Given the description of an element on the screen output the (x, y) to click on. 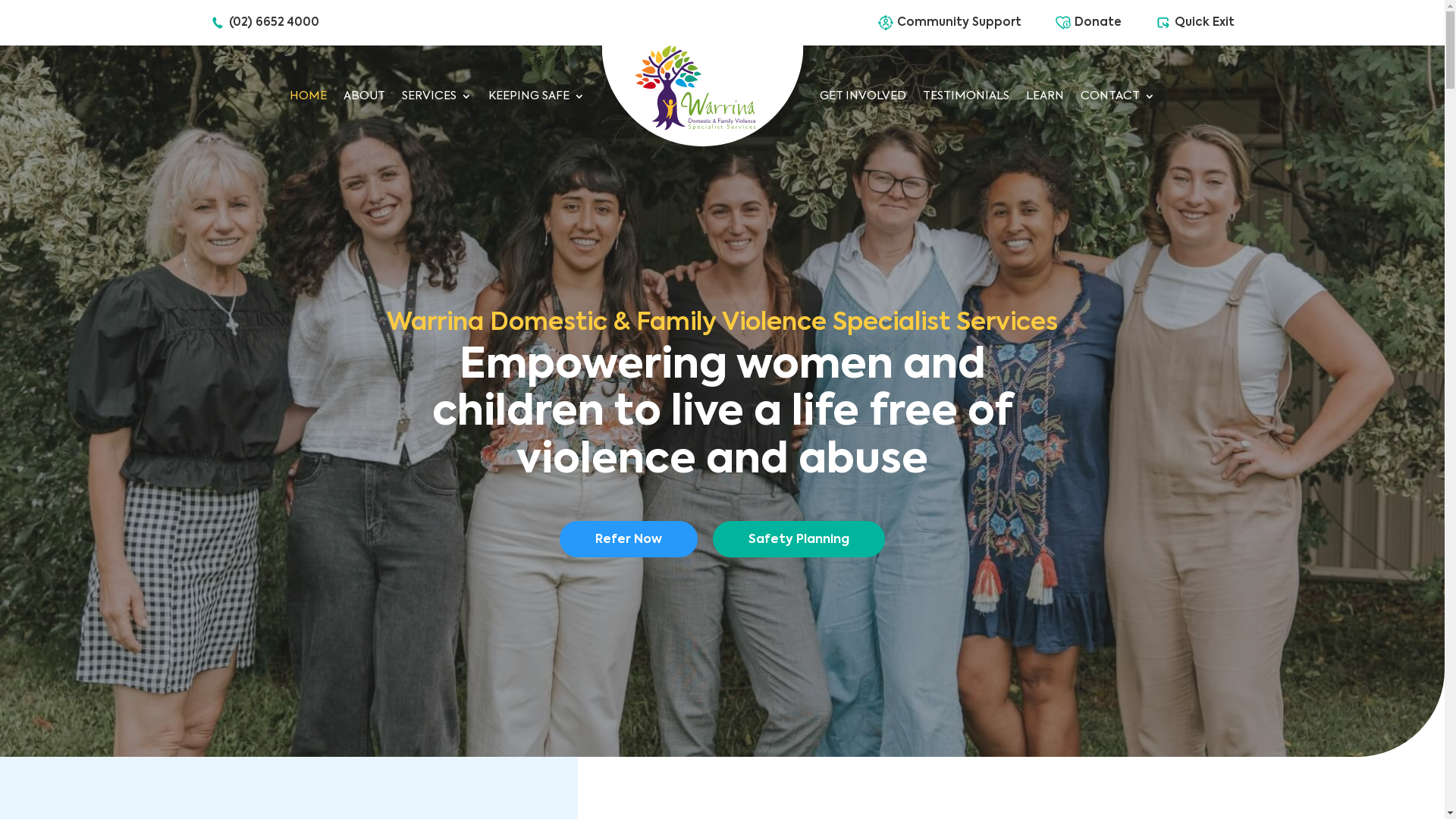
HOME Element type: text (307, 95)
Donate Element type: text (1097, 22)
LEARN Element type: text (1044, 95)
SERVICES Element type: text (436, 95)
Community Support Element type: text (959, 22)
Refer Now Element type: text (628, 538)
GET INVOLVED Element type: text (862, 95)
TESTIMONIALS Element type: text (965, 95)
Safety Planning Element type: text (798, 538)
KEEPING SAFE Element type: text (536, 95)
Quick Exit Element type: text (1204, 22)
ABOUT Element type: text (364, 95)
(02) 6652 4000 Element type: text (274, 22)
CONTACT Element type: text (1117, 95)
